Given the description of an element on the screen output the (x, y) to click on. 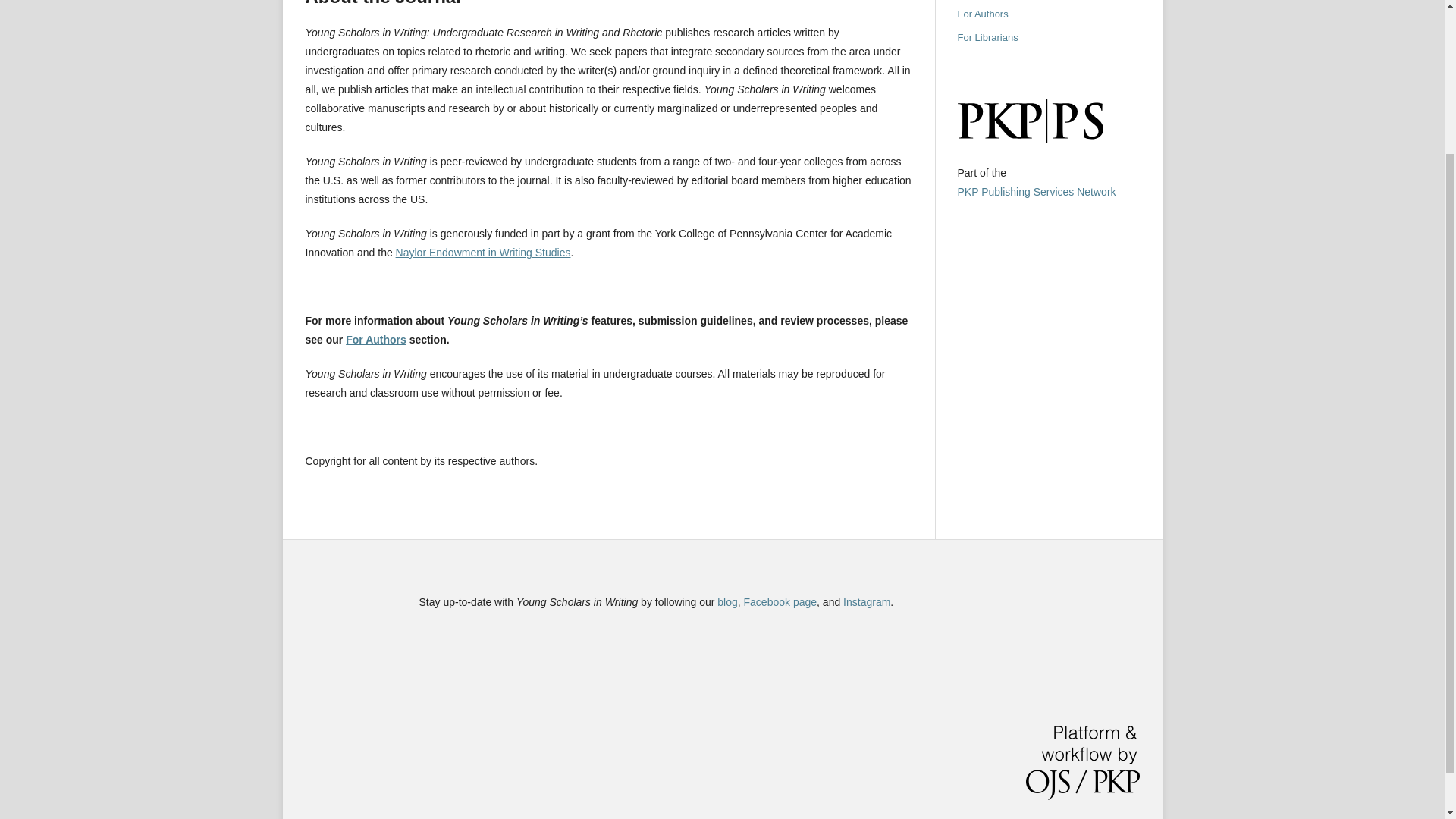
For Authors (981, 13)
Facebook page (780, 602)
For Librarians (986, 37)
YSW Facebook page (780, 602)
YSW Blog (726, 602)
For Authors (376, 339)
Naylor Endowment in Writing Studies (483, 252)
PKP Publishing Services Network (1035, 191)
Instagram (866, 602)
YSW Instagram account (866, 602)
blog (726, 602)
